Given the description of an element on the screen output the (x, y) to click on. 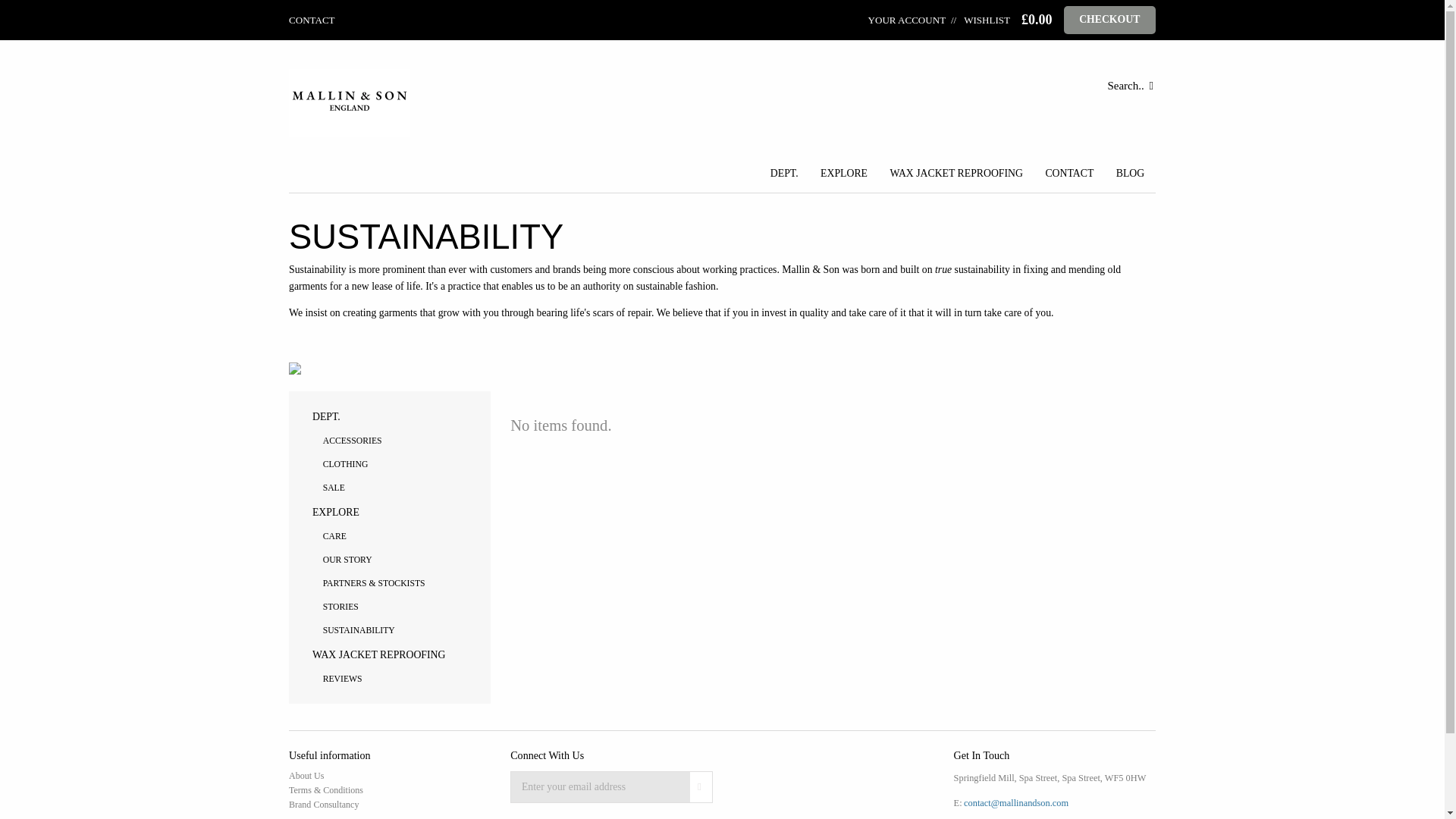
YOUR ACCOUNT (906, 20)
CHECKOUT (1110, 19)
DEPT. (784, 173)
CONTACT (311, 20)
Search.. (907, 85)
WISHLIST (977, 20)
